Given the description of an element on the screen output the (x, y) to click on. 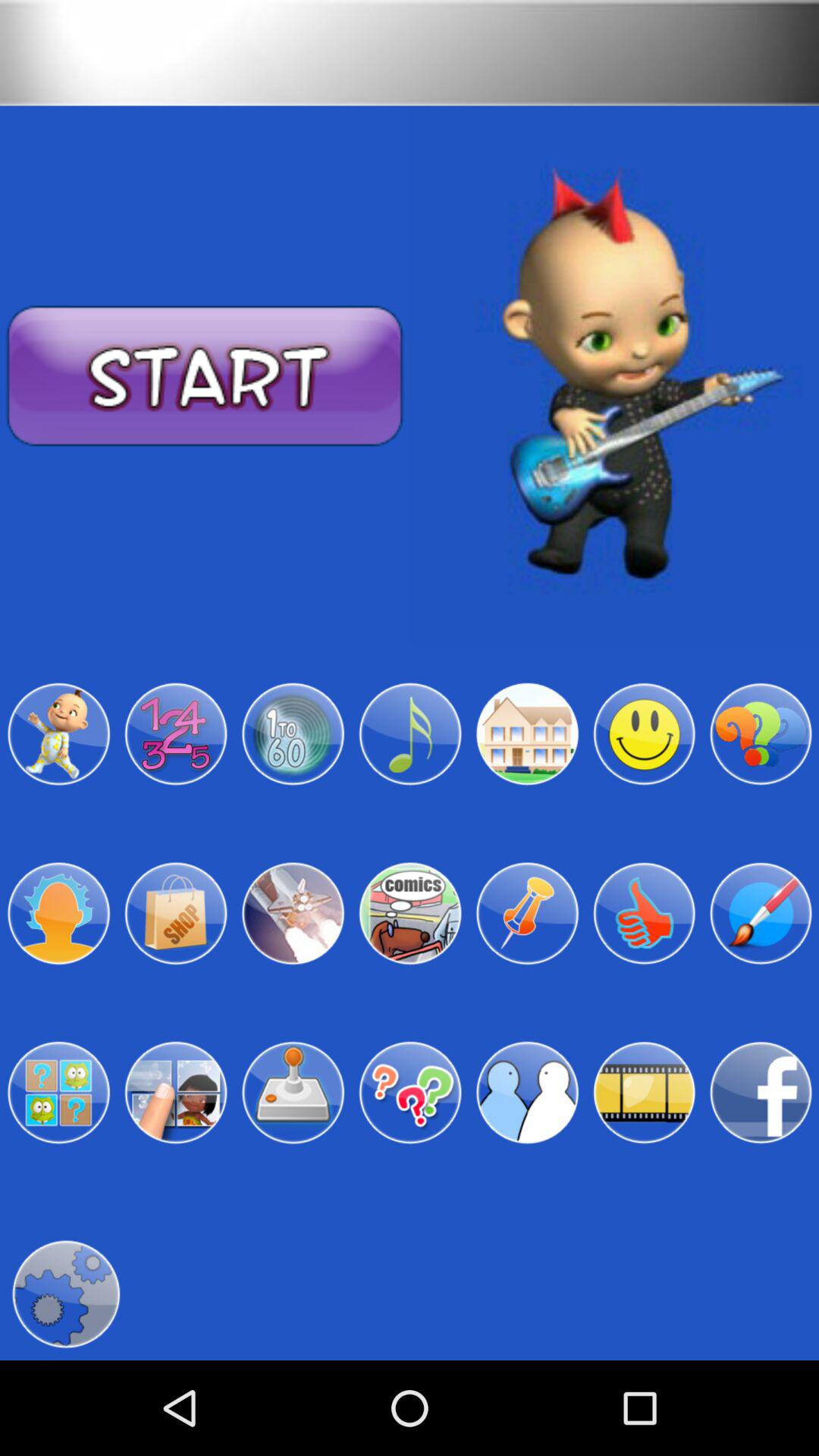
open the app (409, 913)
